Given the description of an element on the screen output the (x, y) to click on. 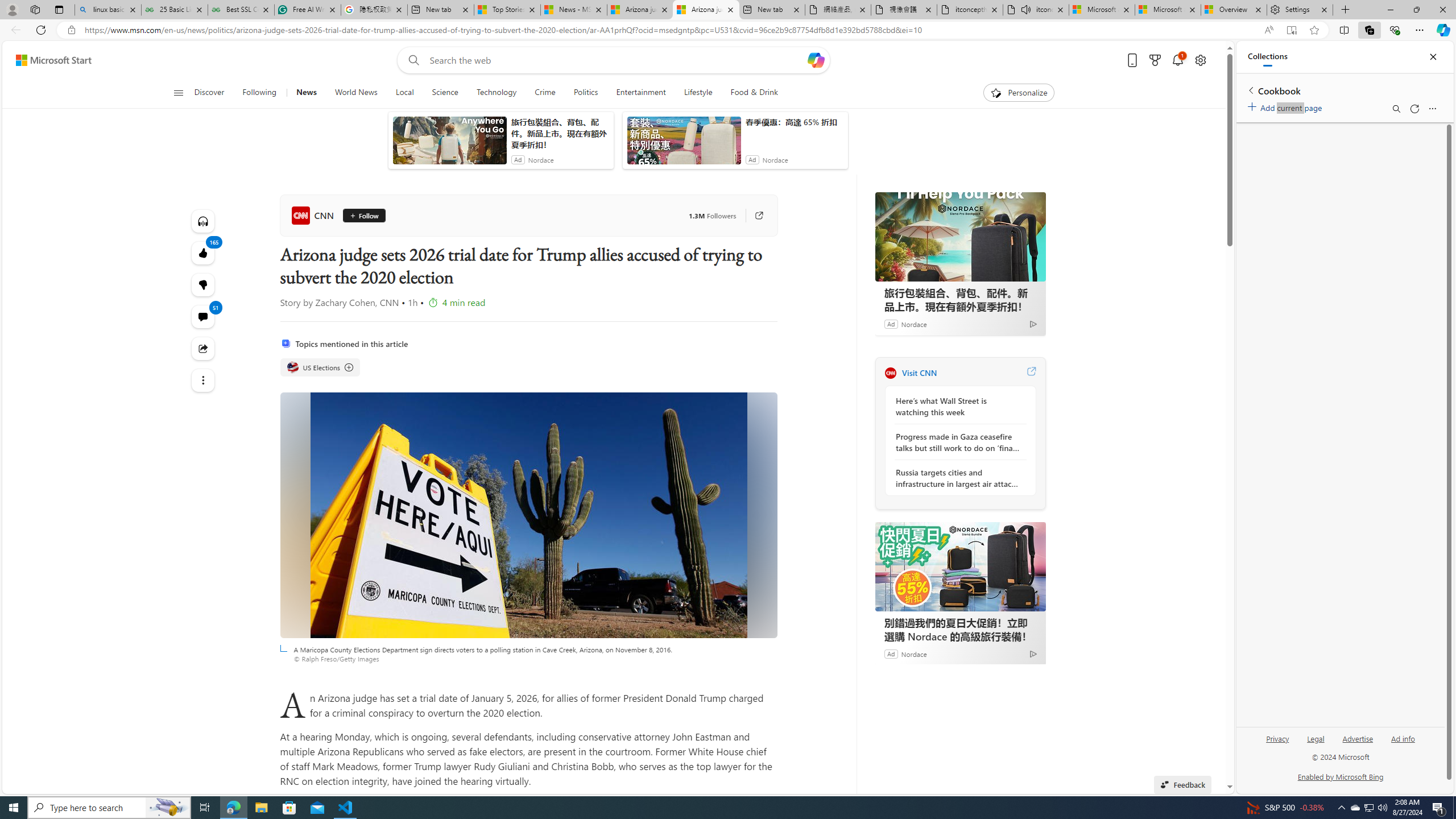
Open settings (1199, 60)
Politics (585, 92)
View comments 51 Comment (202, 316)
Share this story (202, 348)
Politics (585, 92)
Skip to footer (46, 59)
25 Basic Linux Commands For Beginners - GeeksforGeeks (174, 9)
